Given the description of an element on the screen output the (x, y) to click on. 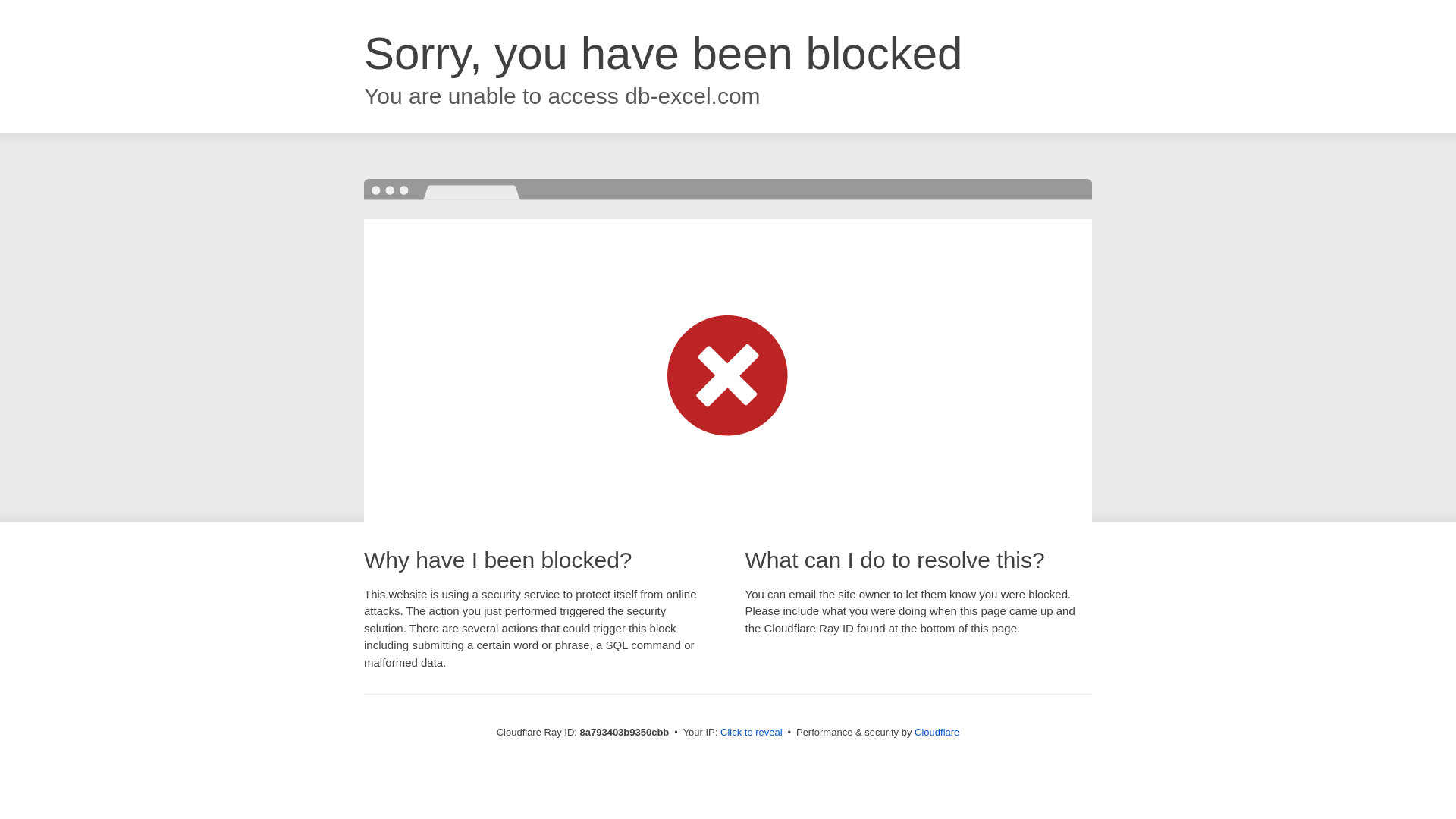
Cloudflare (936, 731)
Click to reveal (751, 732)
